Given the description of an element on the screen output the (x, y) to click on. 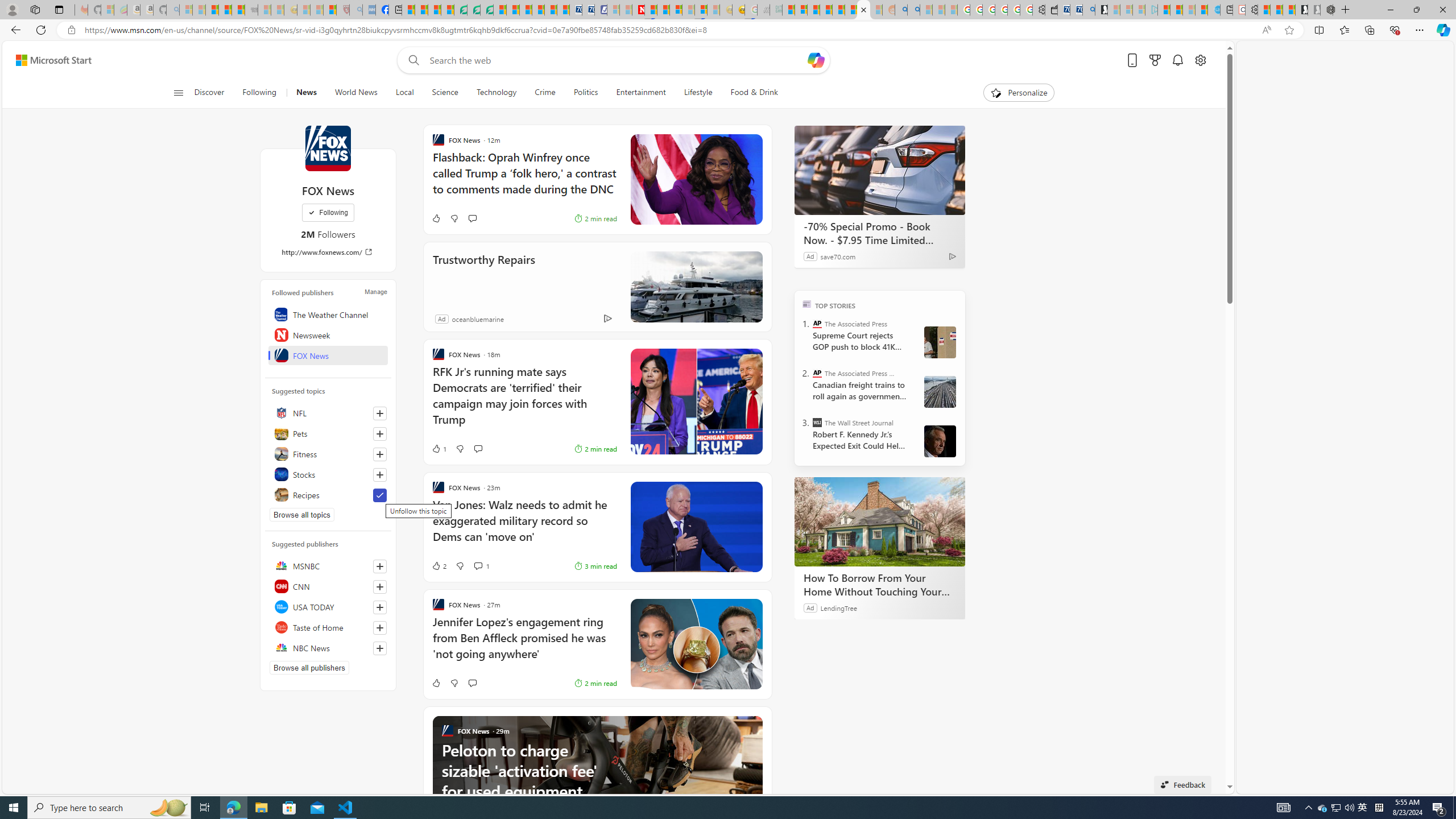
Kinda Frugal - MSN (850, 9)
Follow this topic (379, 474)
1 Like (438, 448)
TOP (806, 302)
Enter your search term (617, 59)
Trustworthy Repairs (696, 286)
Utah sues federal government - Search (913, 9)
